Given the description of an element on the screen output the (x, y) to click on. 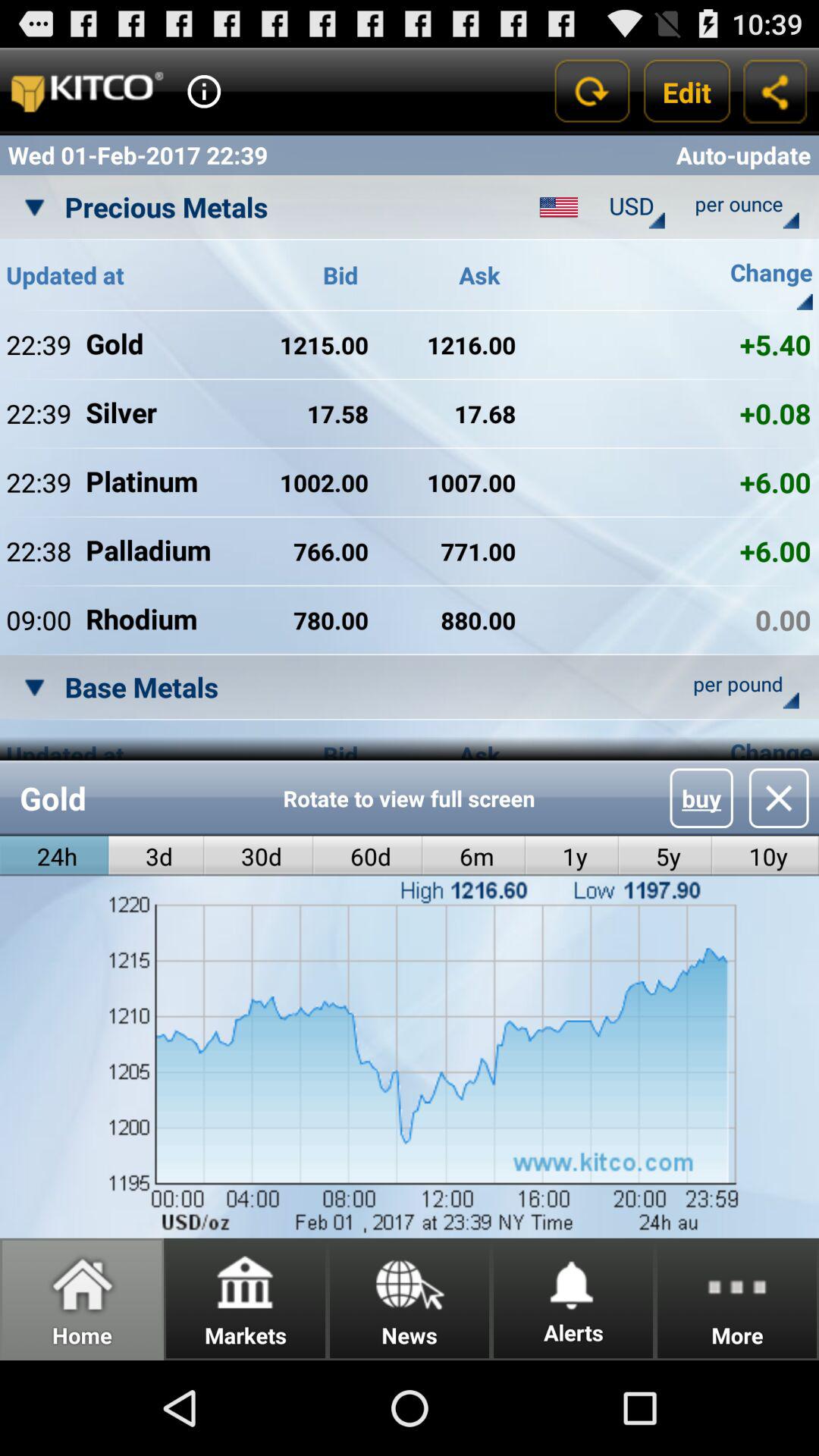
select the app below gold app (258, 856)
